Given the description of an element on the screen output the (x, y) to click on. 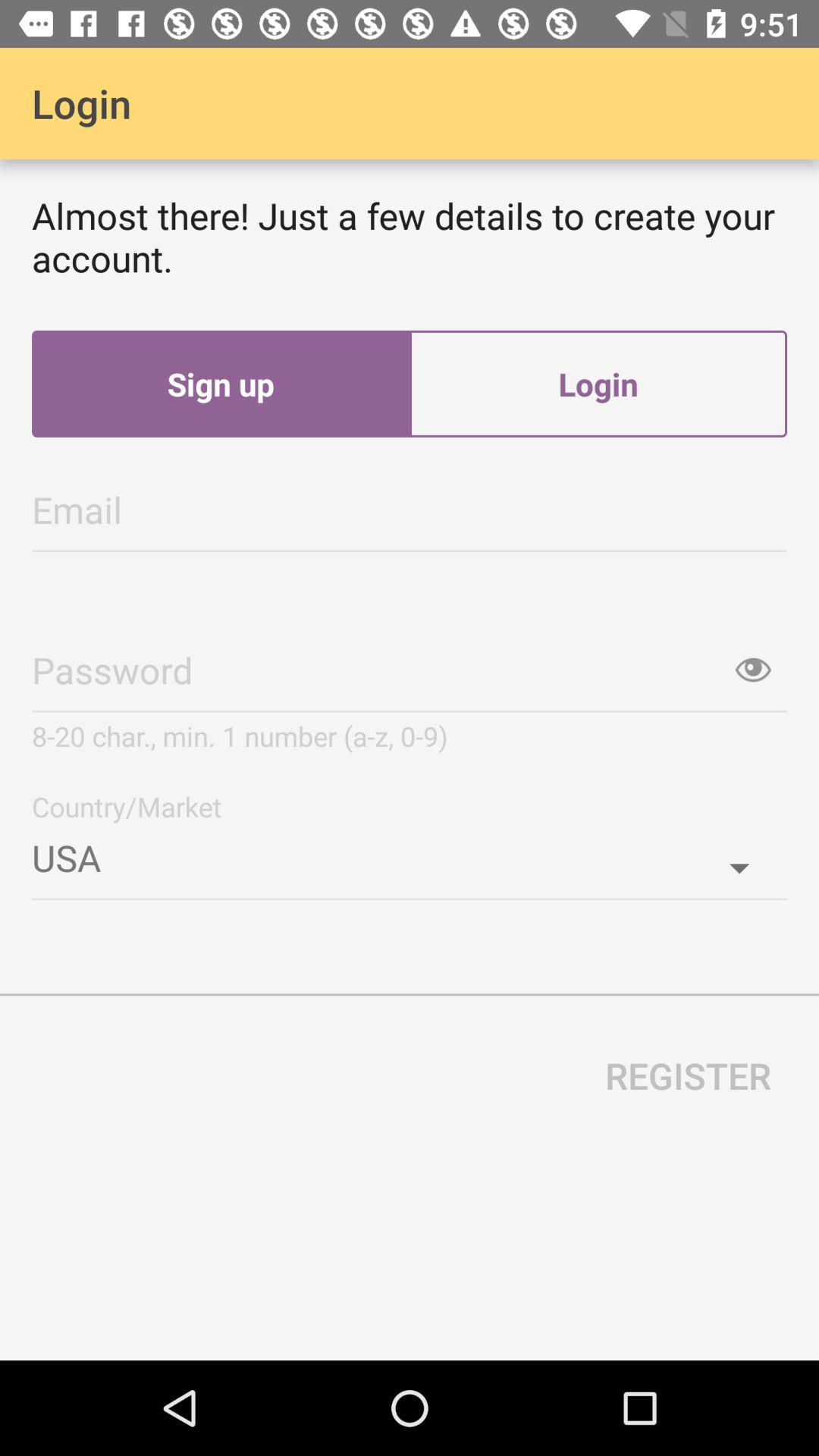
click item to the left of login icon (220, 383)
